Given the description of an element on the screen output the (x, y) to click on. 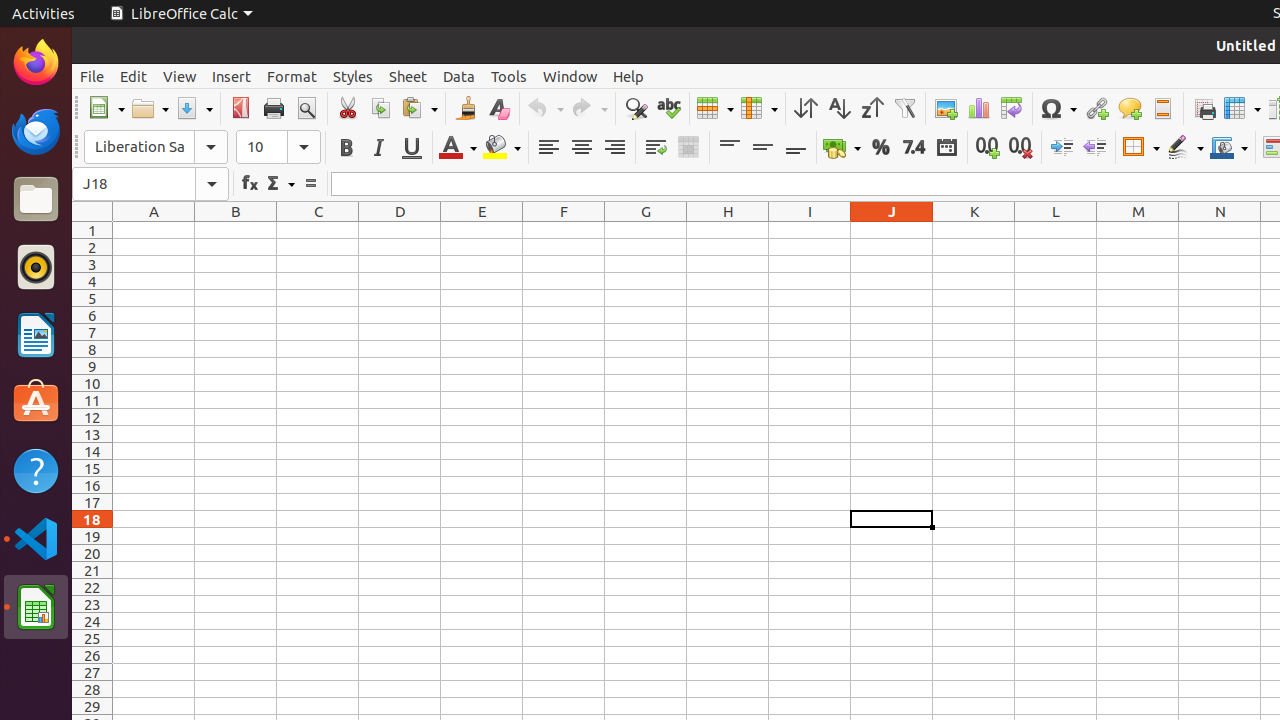
Data Element type: menu (459, 76)
Increase Element type: push-button (1061, 147)
Redo Element type: push-button (589, 108)
Align Right Element type: push-button (614, 147)
